Given the description of an element on the screen output the (x, y) to click on. 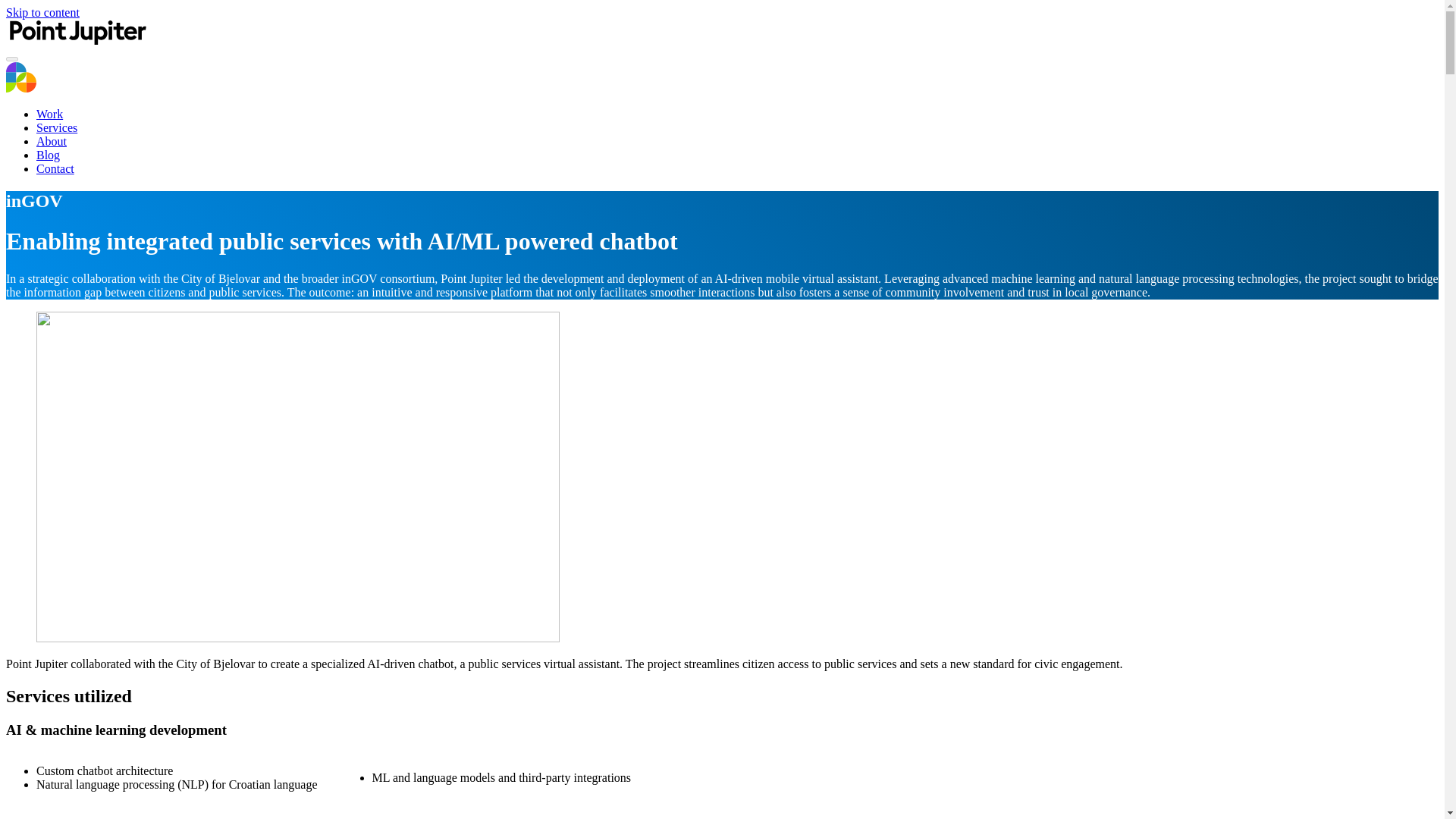
Point Jupiter logo (20, 88)
Skip to content (42, 11)
Contact (55, 168)
Services (56, 127)
Point Jupiter logo (20, 77)
Point Jupiter logo link to homepage (77, 41)
Blog (47, 154)
Point Jupiter - Web development and UX design agency (77, 41)
About (51, 141)
Point Jupiter logo link to homepage (77, 32)
